Given the description of an element on the screen output the (x, y) to click on. 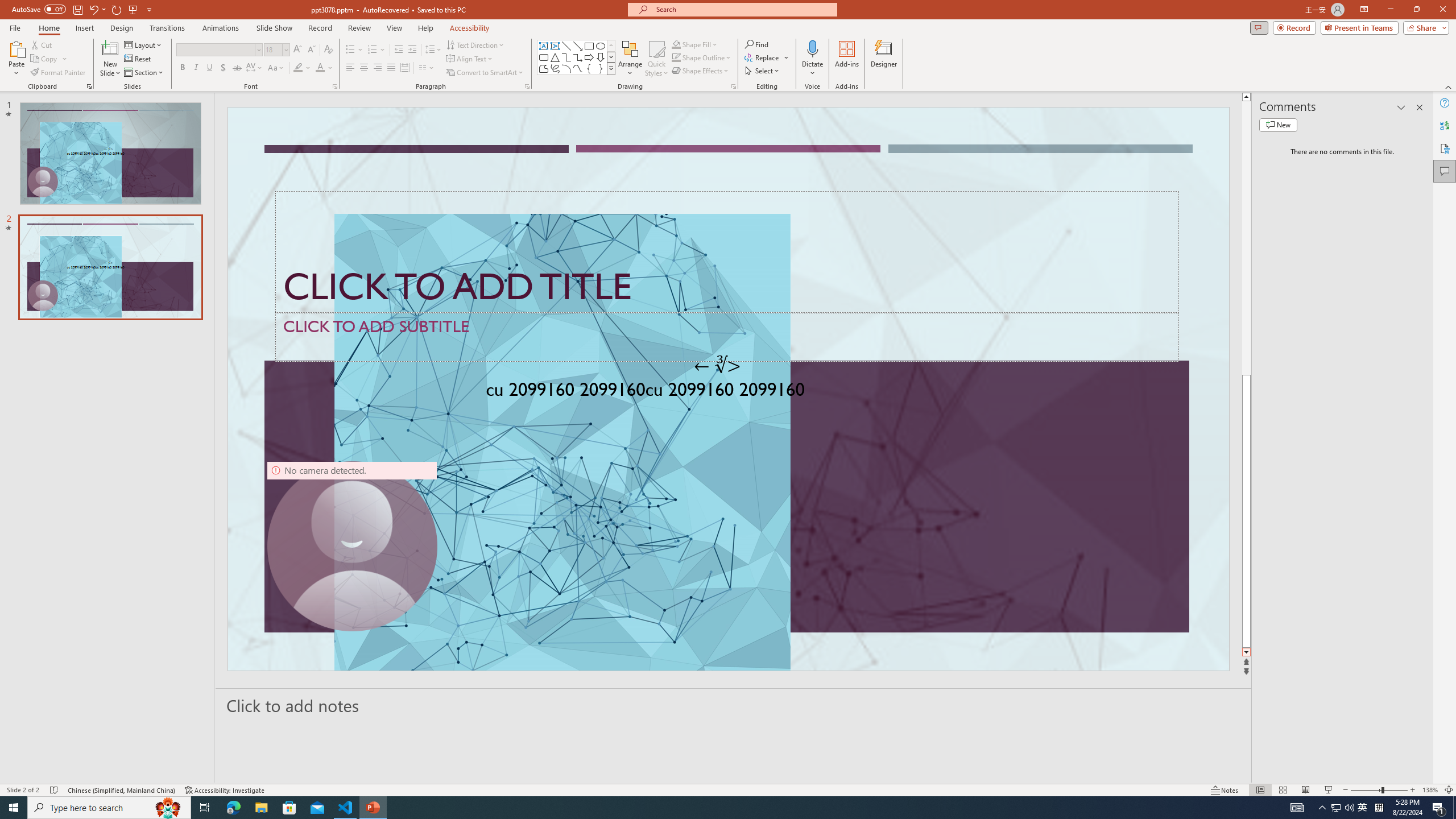
Camera 9, No camera detected. (352, 546)
